Given the description of an element on the screen output the (x, y) to click on. 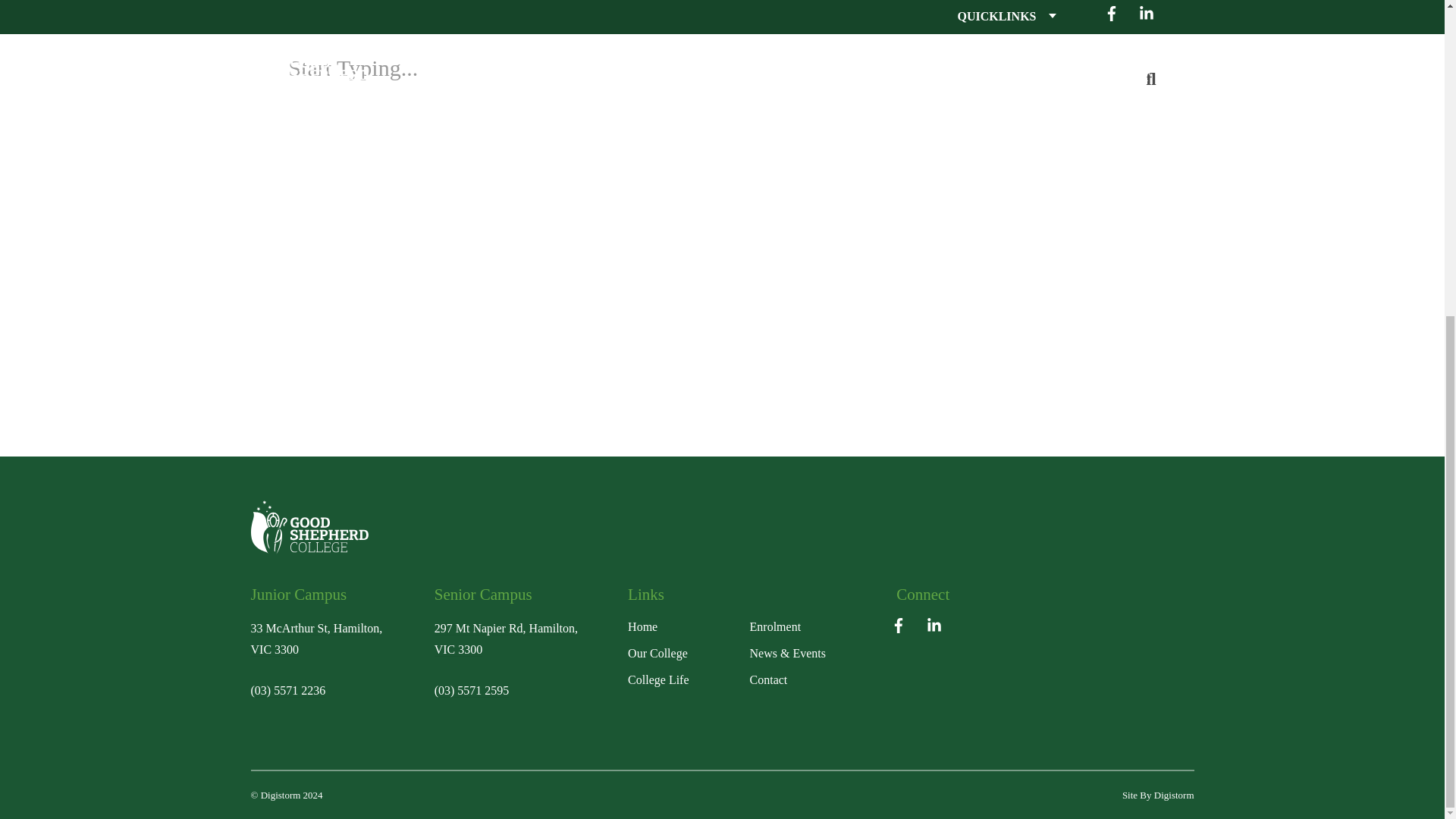
Top (322, 527)
